Given the description of an element on the screen output the (x, y) to click on. 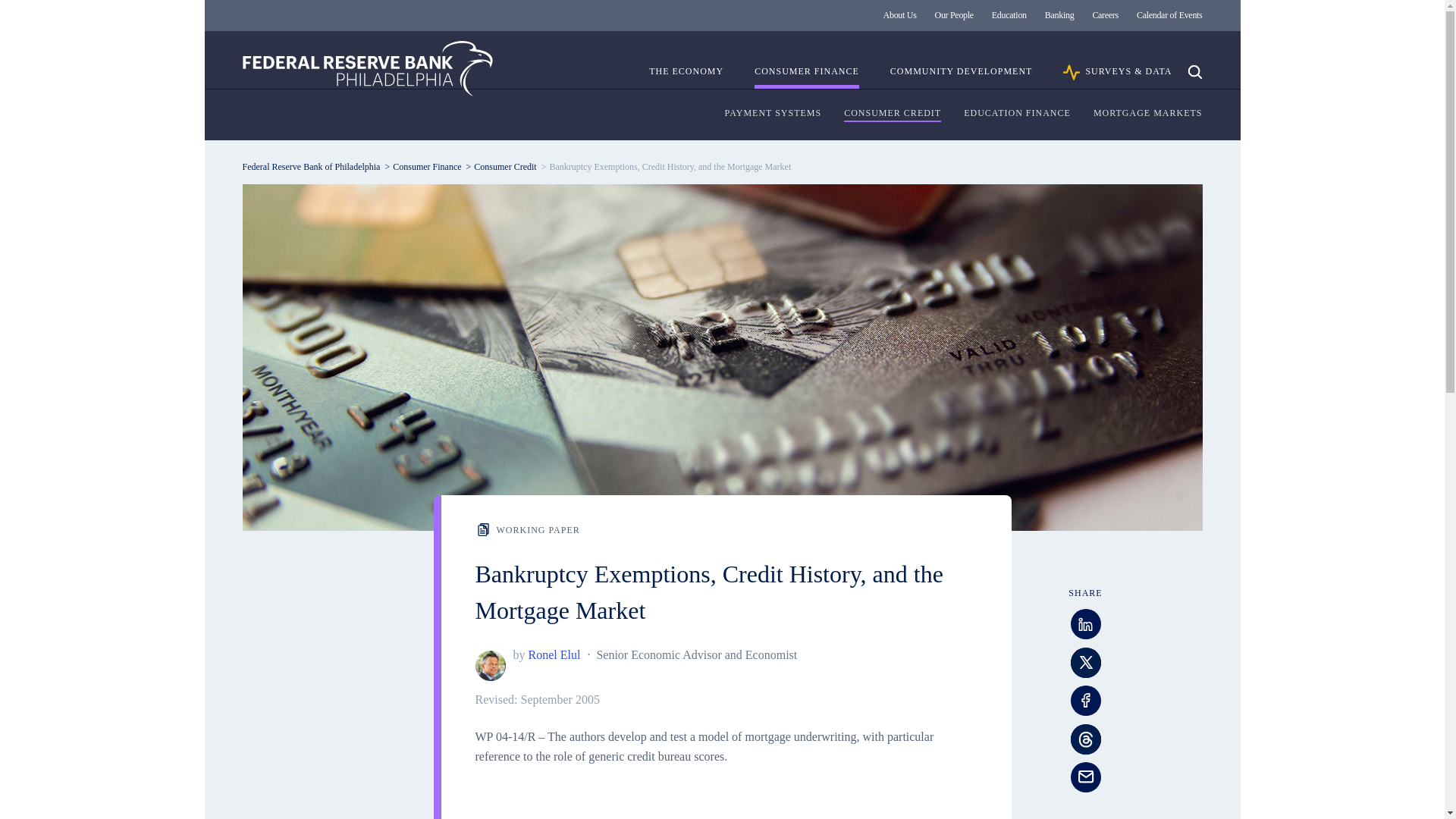
PAYMENT SYSTEMS (773, 114)
MORTGAGE MARKETS (1147, 114)
About Us (900, 15)
Search (1194, 71)
THE ECONOMY (686, 77)
Federal Reserve Bank of Philadelphia (368, 67)
Consumer Credit (504, 166)
CONSUMER CREDIT (892, 114)
EDUCATION FINANCE (1016, 114)
Calendar of Events (1169, 15)
